Given the description of an element on the screen output the (x, y) to click on. 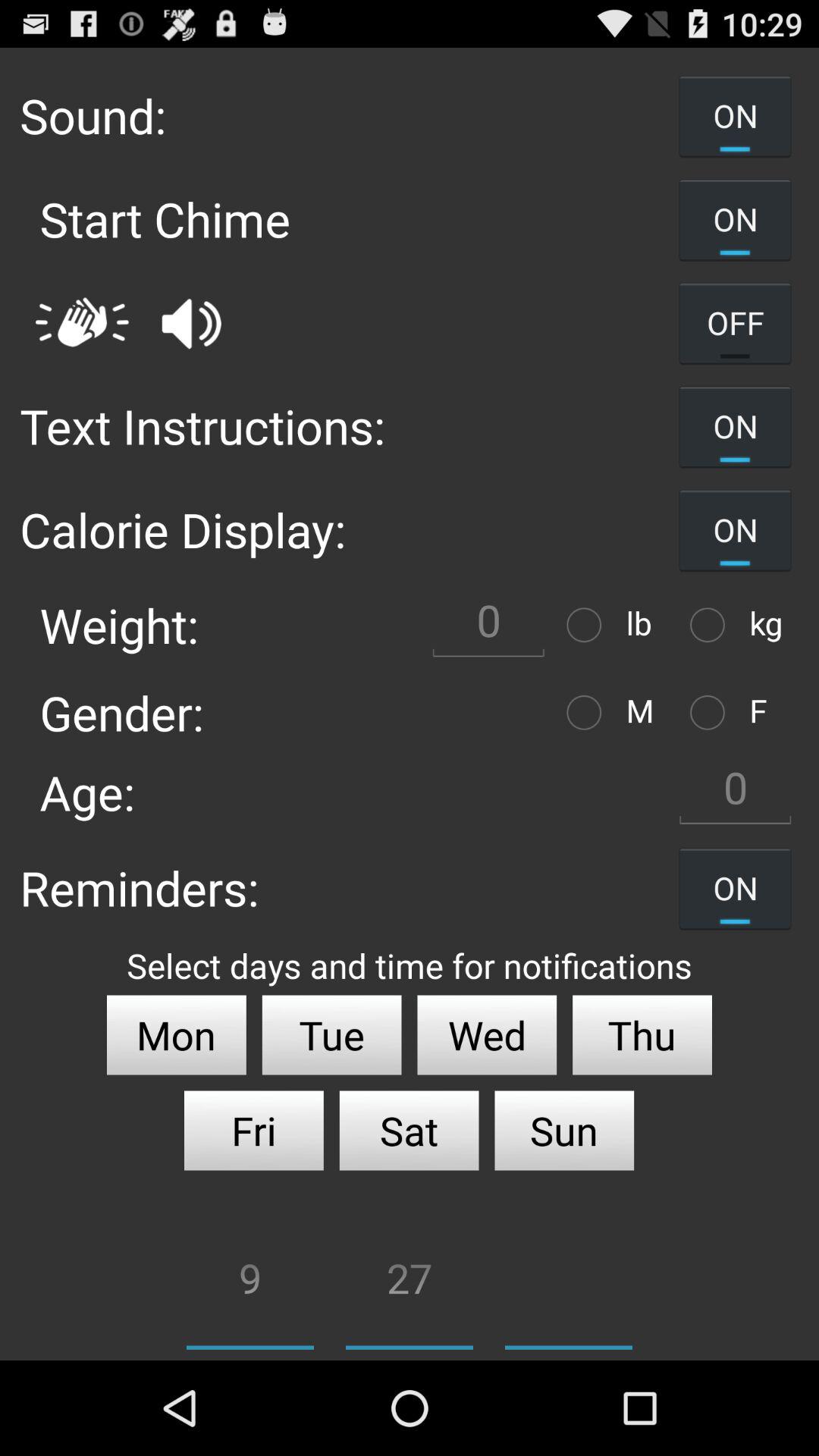
to enter weight details (488, 624)
